Given the description of an element on the screen output the (x, y) to click on. 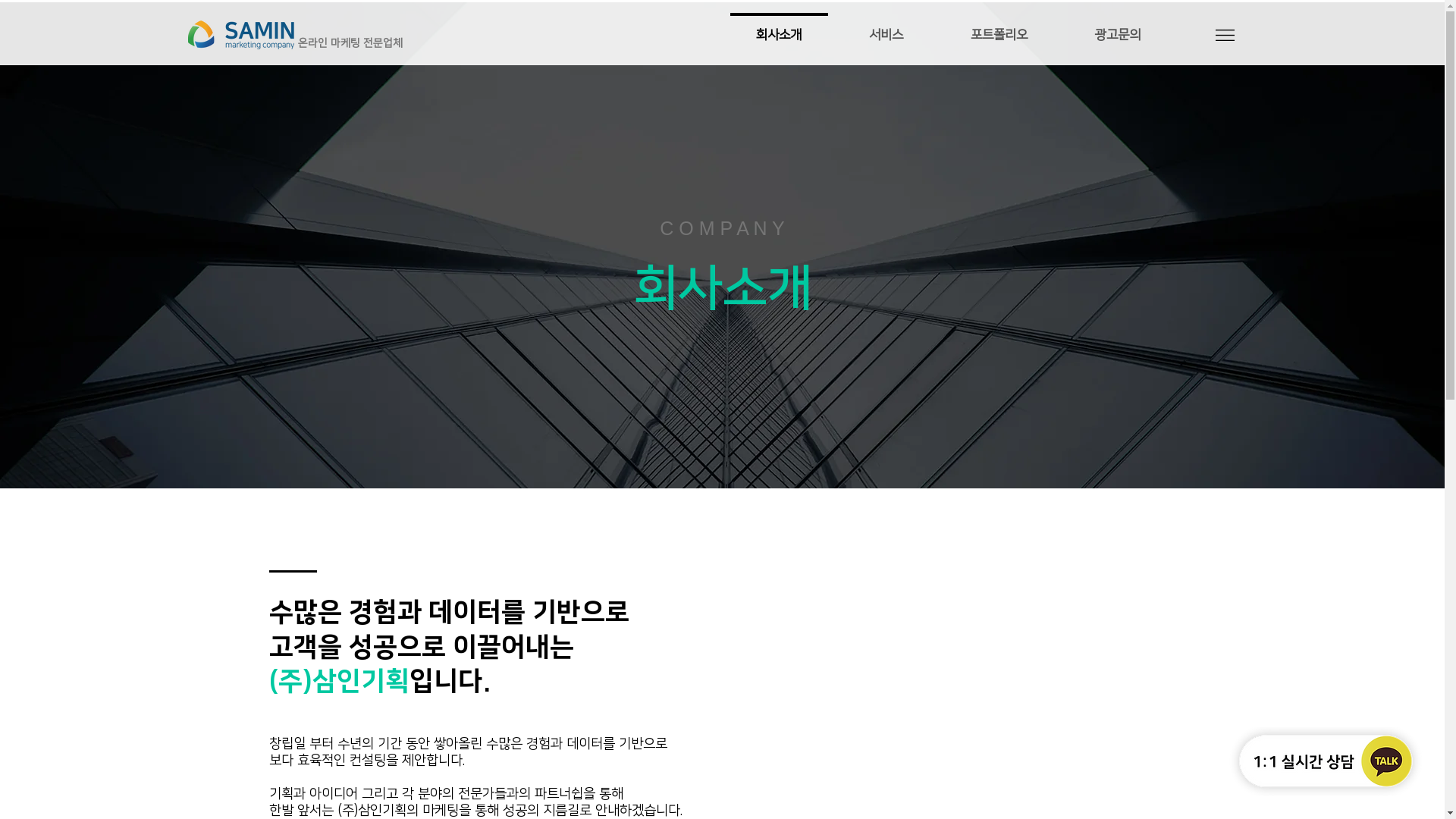
logo.png Element type: hover (241, 34)
